Given the description of an element on the screen output the (x, y) to click on. 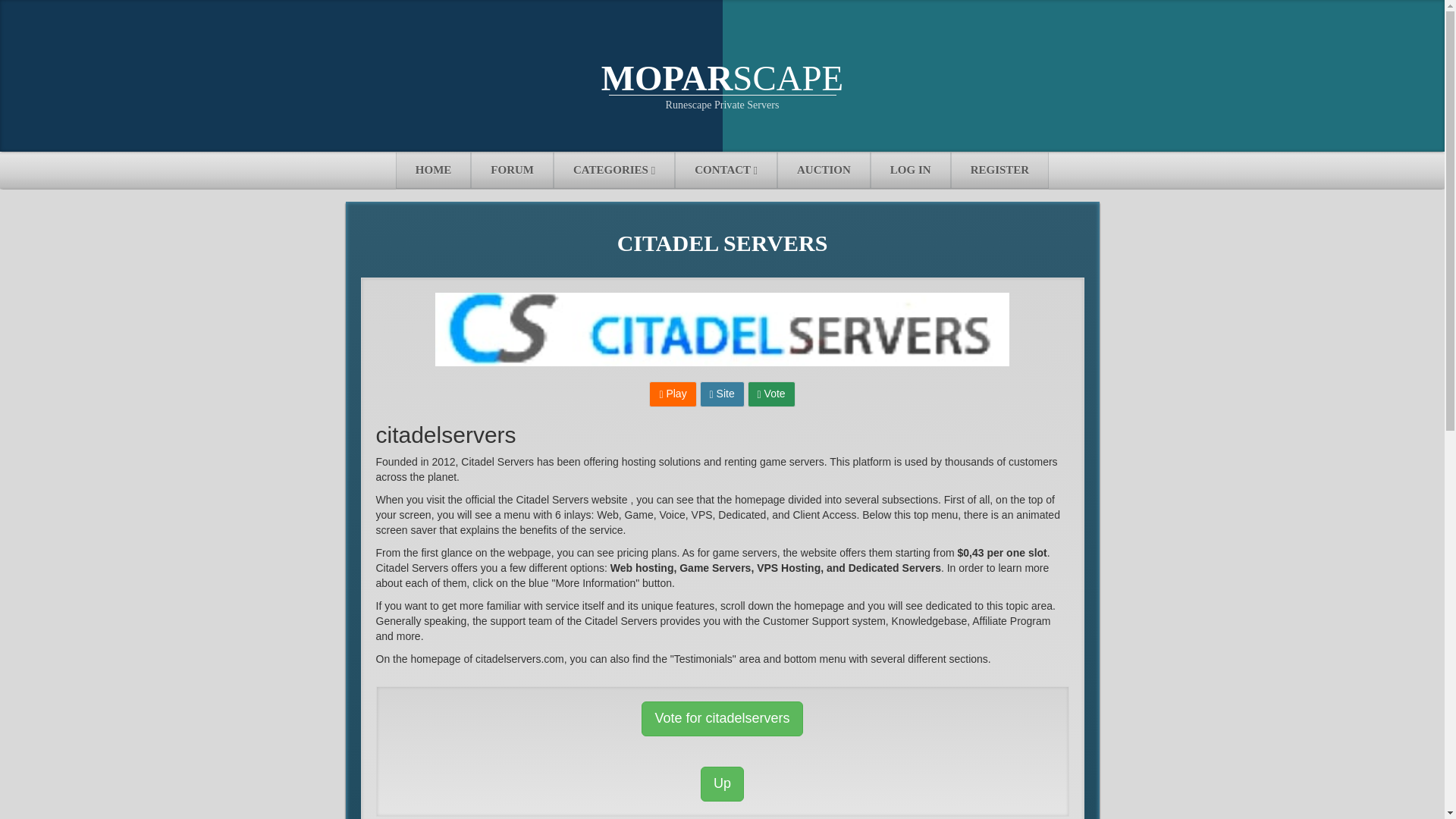
Up (722, 783)
AUCTION (823, 170)
Vote (771, 394)
Vote for citadelservers (722, 718)
Play (673, 393)
Site (722, 394)
Site (724, 393)
FORUM (511, 170)
CATEGORIES (614, 170)
Play (672, 394)
